Given the description of an element on the screen output the (x, y) to click on. 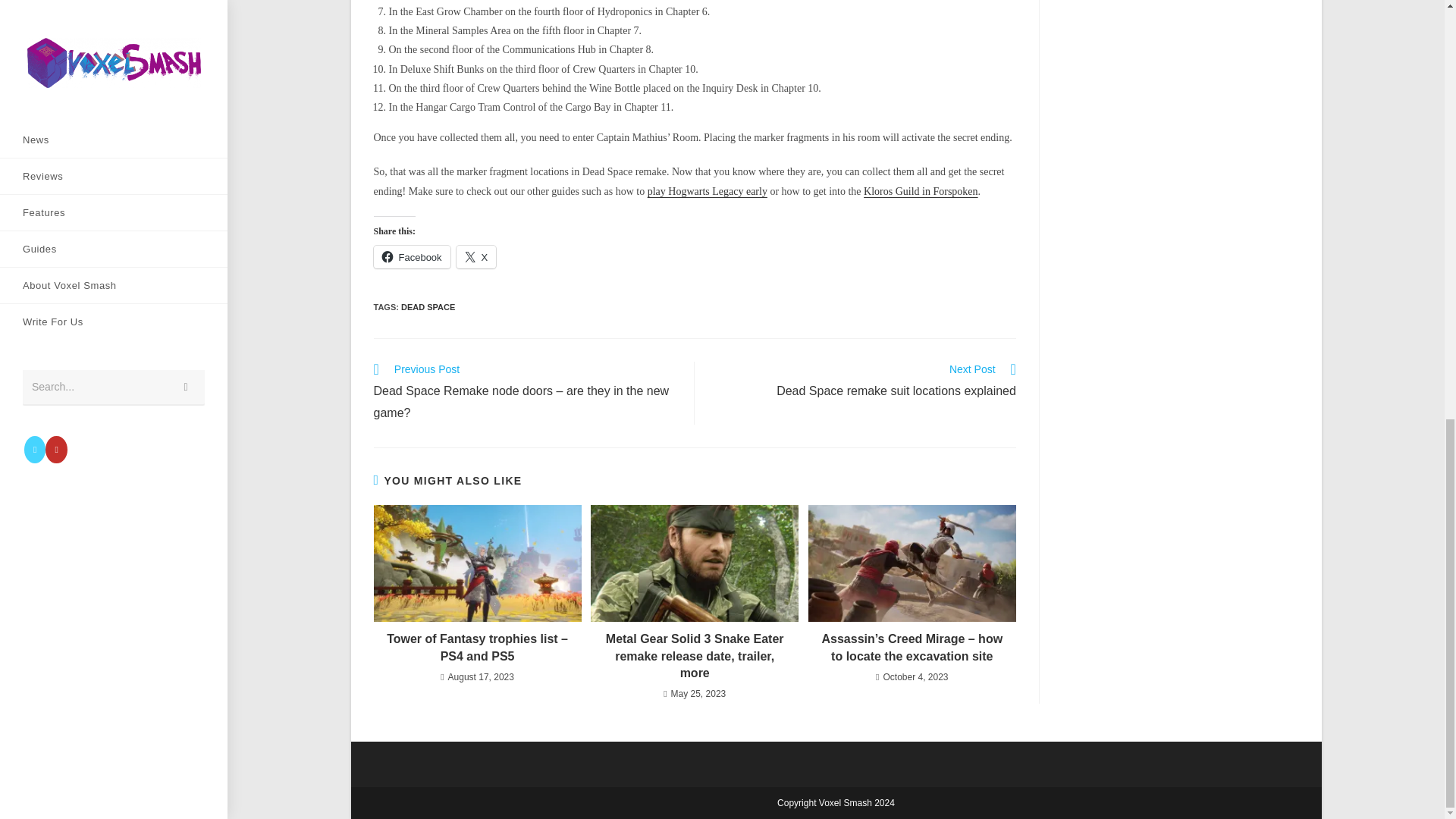
X (863, 381)
Click to share on X (476, 256)
DEAD SPACE (476, 256)
play Hogwarts Legacy early (427, 307)
Click to share on Facebook (707, 191)
Kloros Guild in Forspoken (410, 256)
Facebook (920, 191)
